Given the description of an element on the screen output the (x, y) to click on. 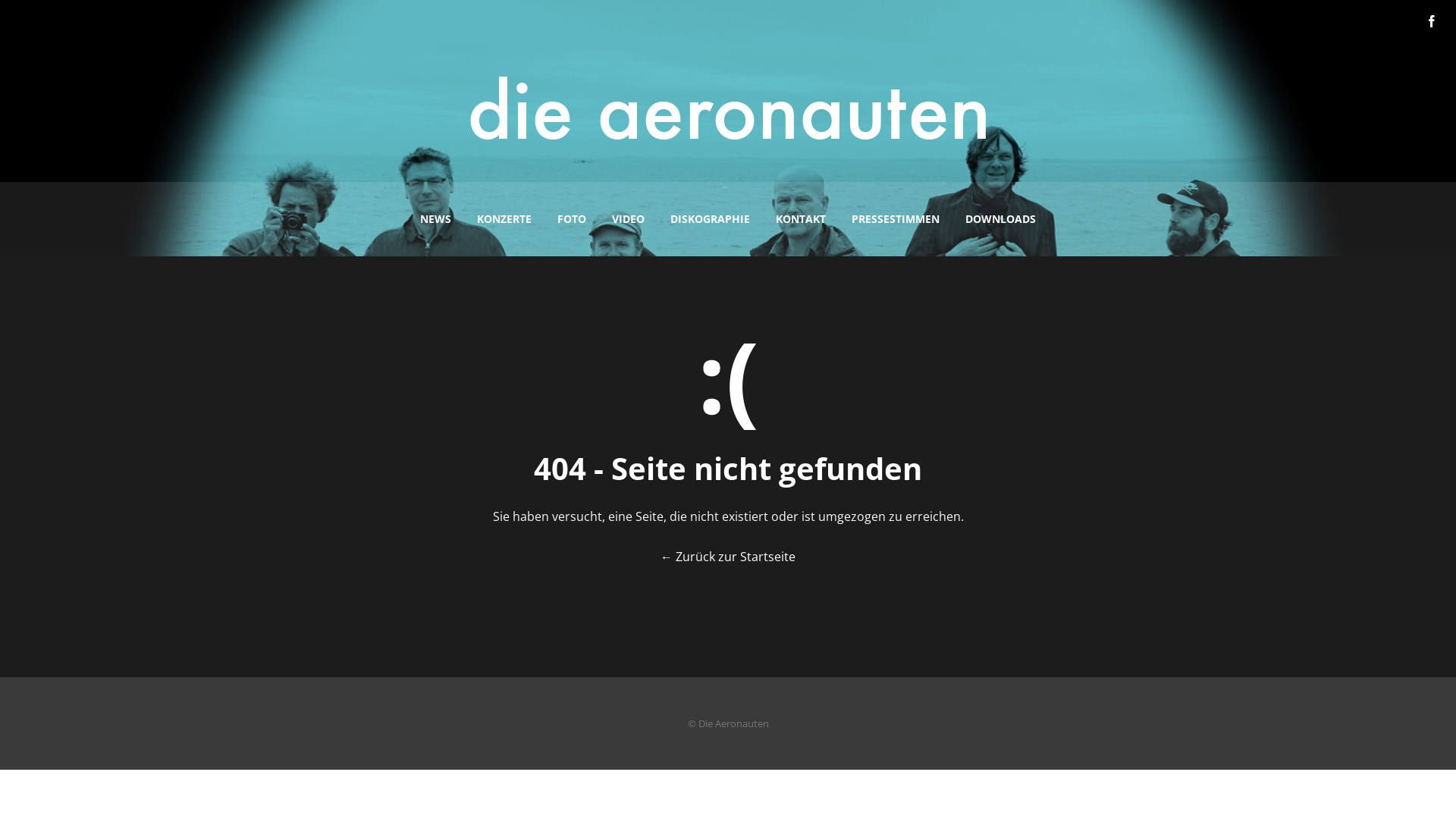
DOWNLOADS Element type: text (1000, 219)
PRESSESTIMMEN Element type: text (895, 219)
KONZERTE Element type: text (503, 219)
KONTAKT Element type: text (800, 219)
FOTO Element type: text (571, 219)
DISKOGRAPHIE Element type: text (709, 219)
NEWS Element type: text (435, 219)
VIDEO Element type: text (627, 219)
Facebook Element type: hover (1431, 21)
